Given the description of an element on the screen output the (x, y) to click on. 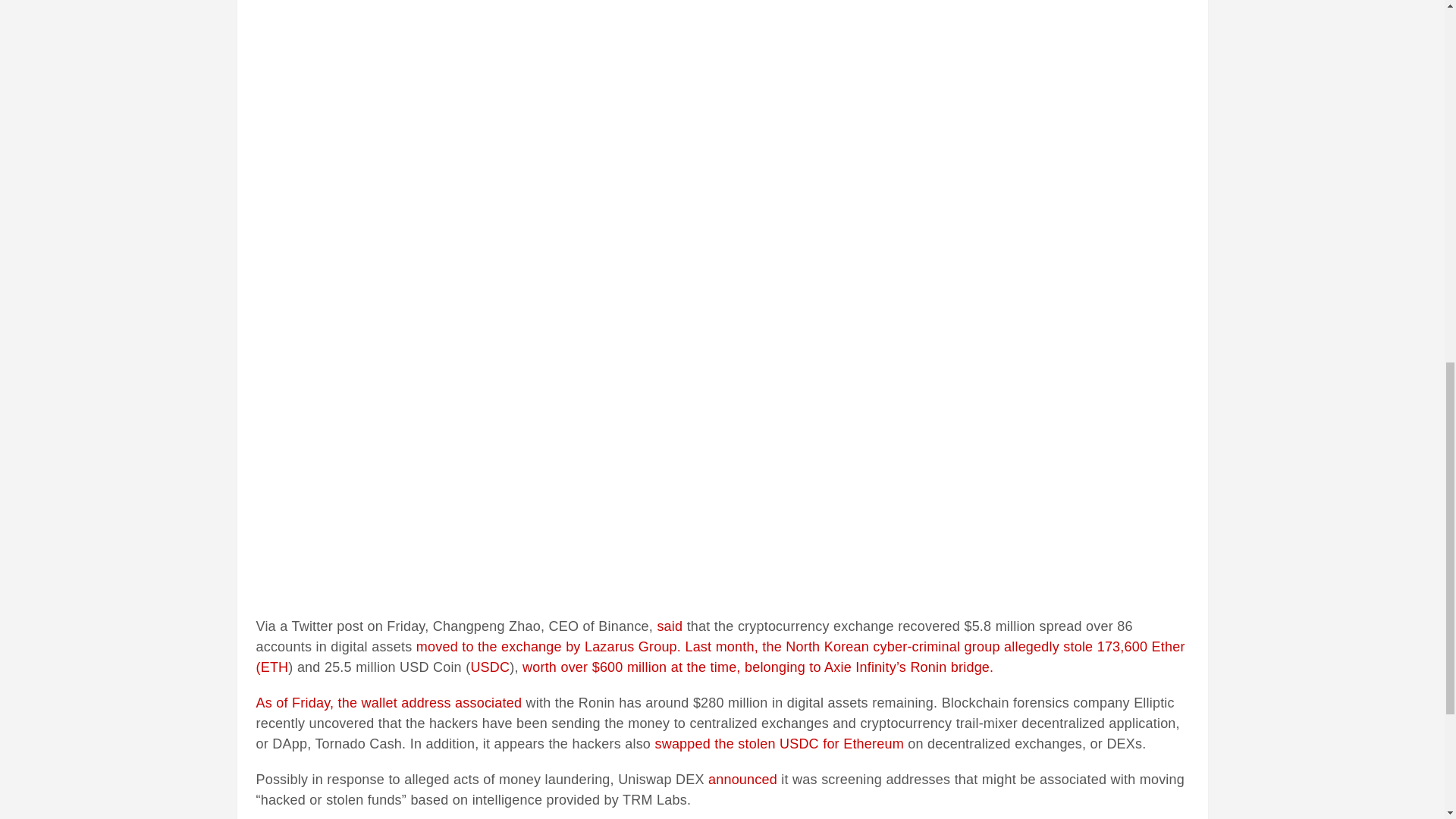
announced (742, 779)
said (669, 626)
moved to the exchange by Lazarus Group (546, 646)
associated (487, 702)
ETH (274, 667)
As of Friday, the wallet address (355, 702)
USDC (489, 667)
swapped the stolen USDC for Ethereum (777, 743)
